Given the description of an element on the screen output the (x, y) to click on. 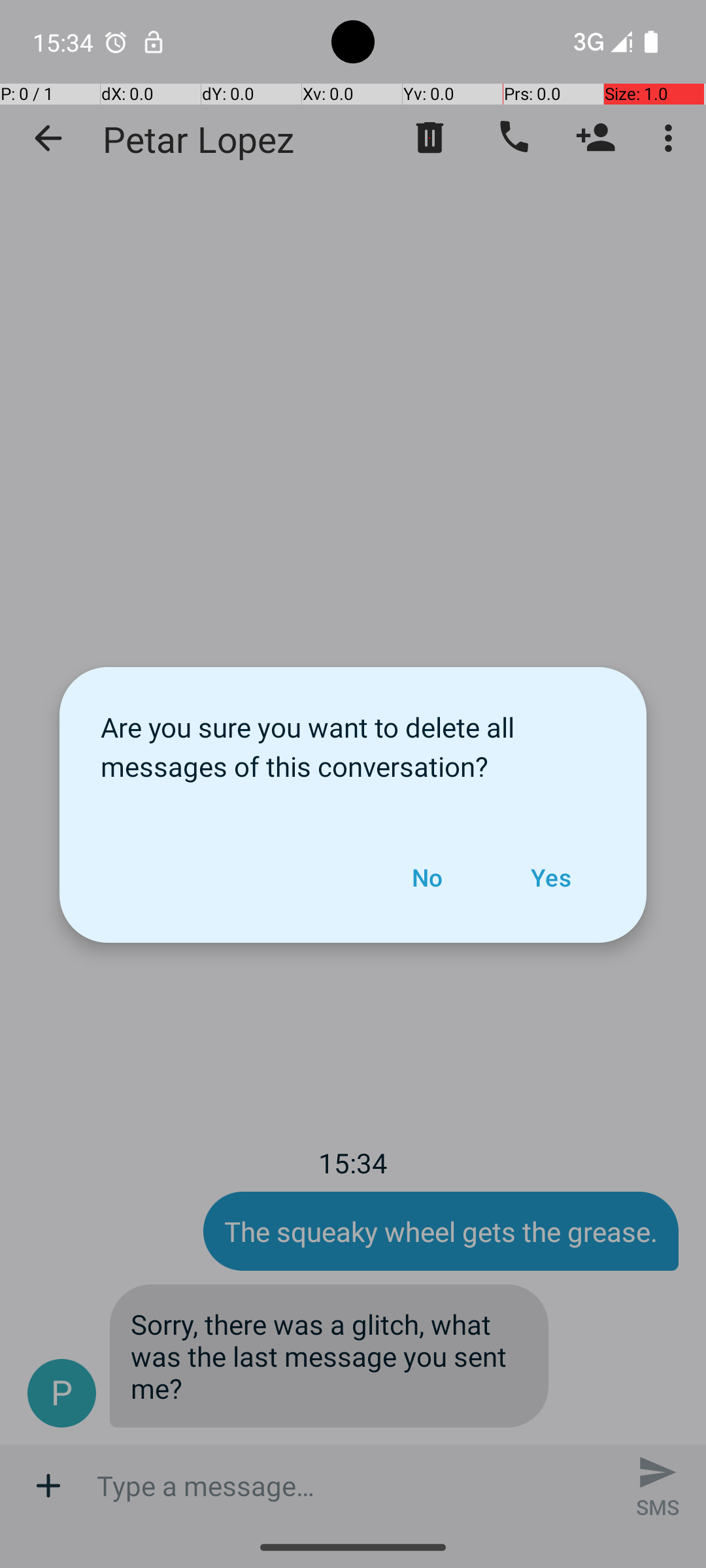
Are you sure you want to delete all messages of this conversation? Element type: android.widget.TextView (352, 739)
